Given the description of an element on the screen output the (x, y) to click on. 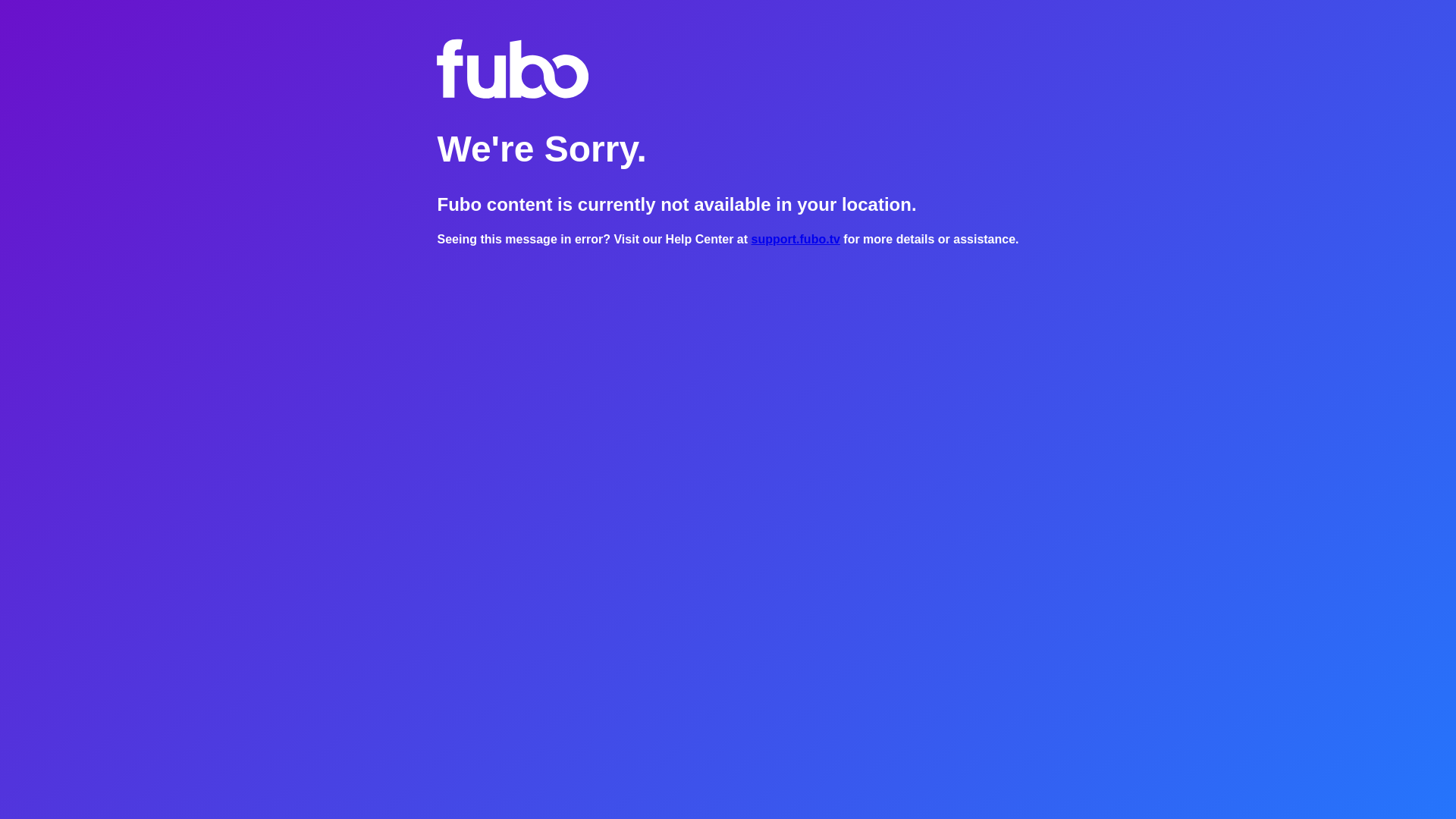
support.fubo.tv (795, 238)
fubo logo (512, 68)
